Given the description of an element on the screen output the (x, y) to click on. 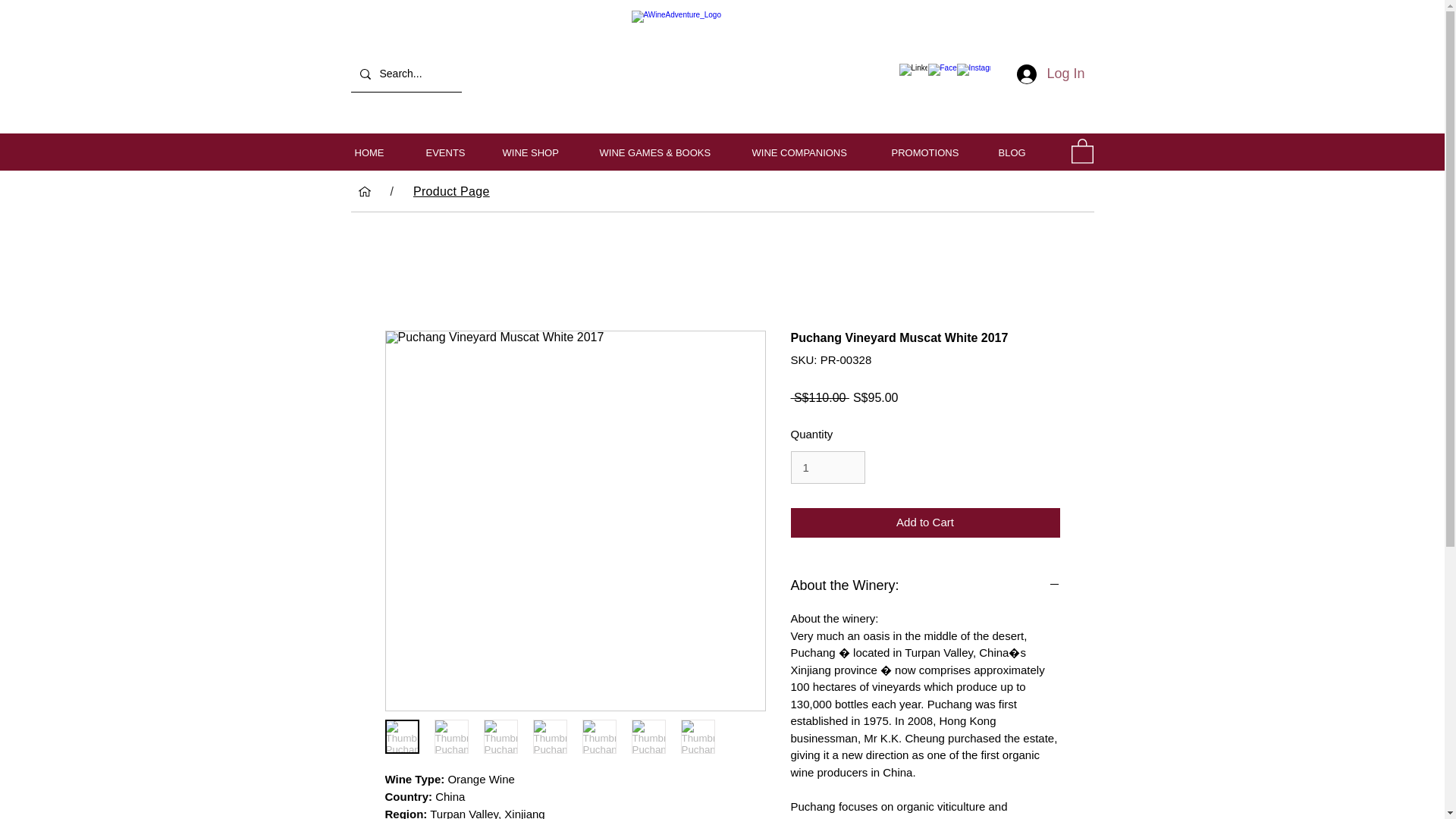
HOME (377, 152)
WINE SHOP (540, 152)
EVENTS (451, 152)
PROMOTIONS (933, 152)
Product Page (451, 191)
1 (827, 467)
BLOG (1020, 152)
Log In (1049, 73)
WINE COMPANIONS (809, 152)
